Given the description of an element on the screen output the (x, y) to click on. 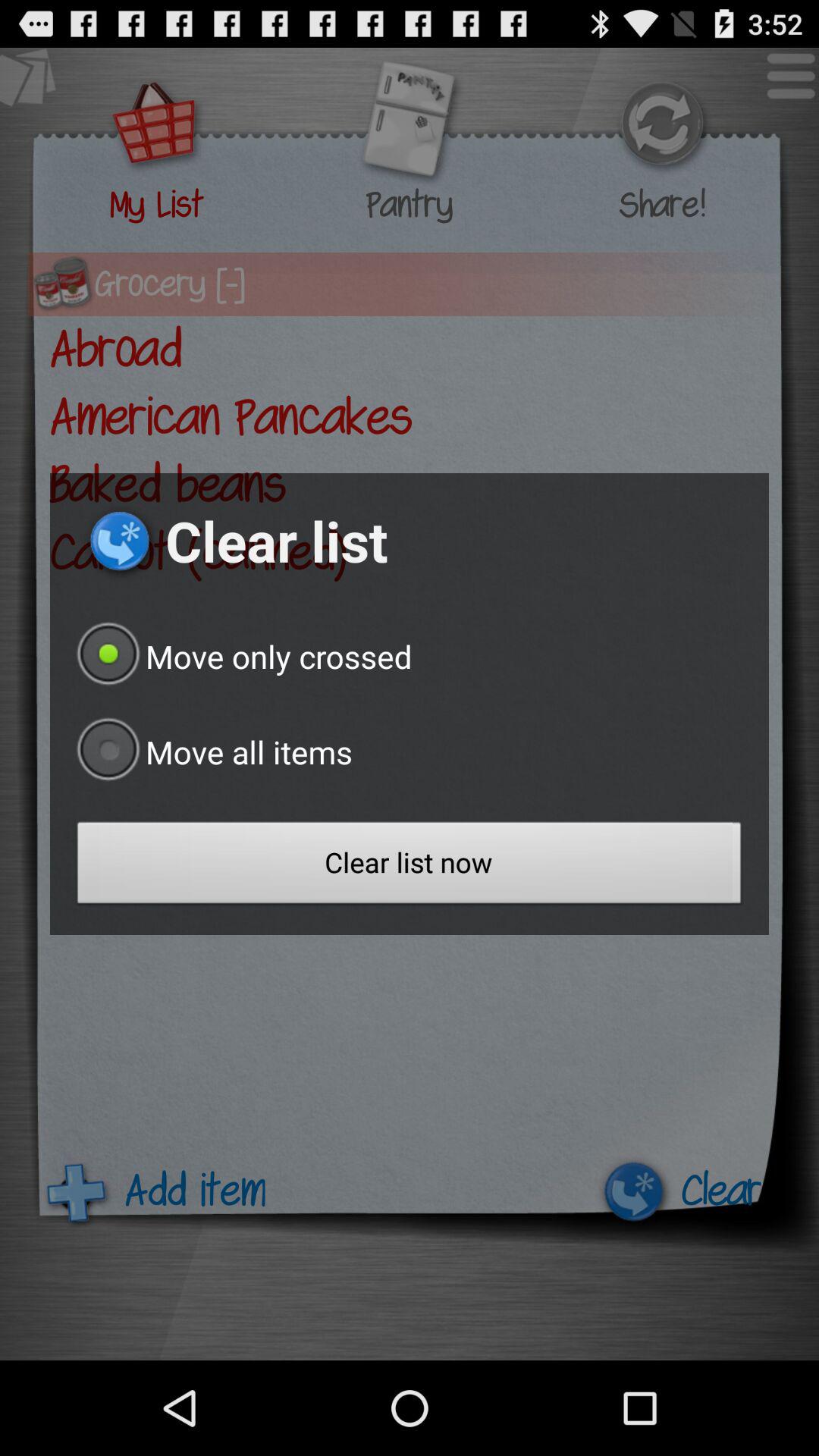
scroll until move only crossed (240, 656)
